Given the description of an element on the screen output the (x, y) to click on. 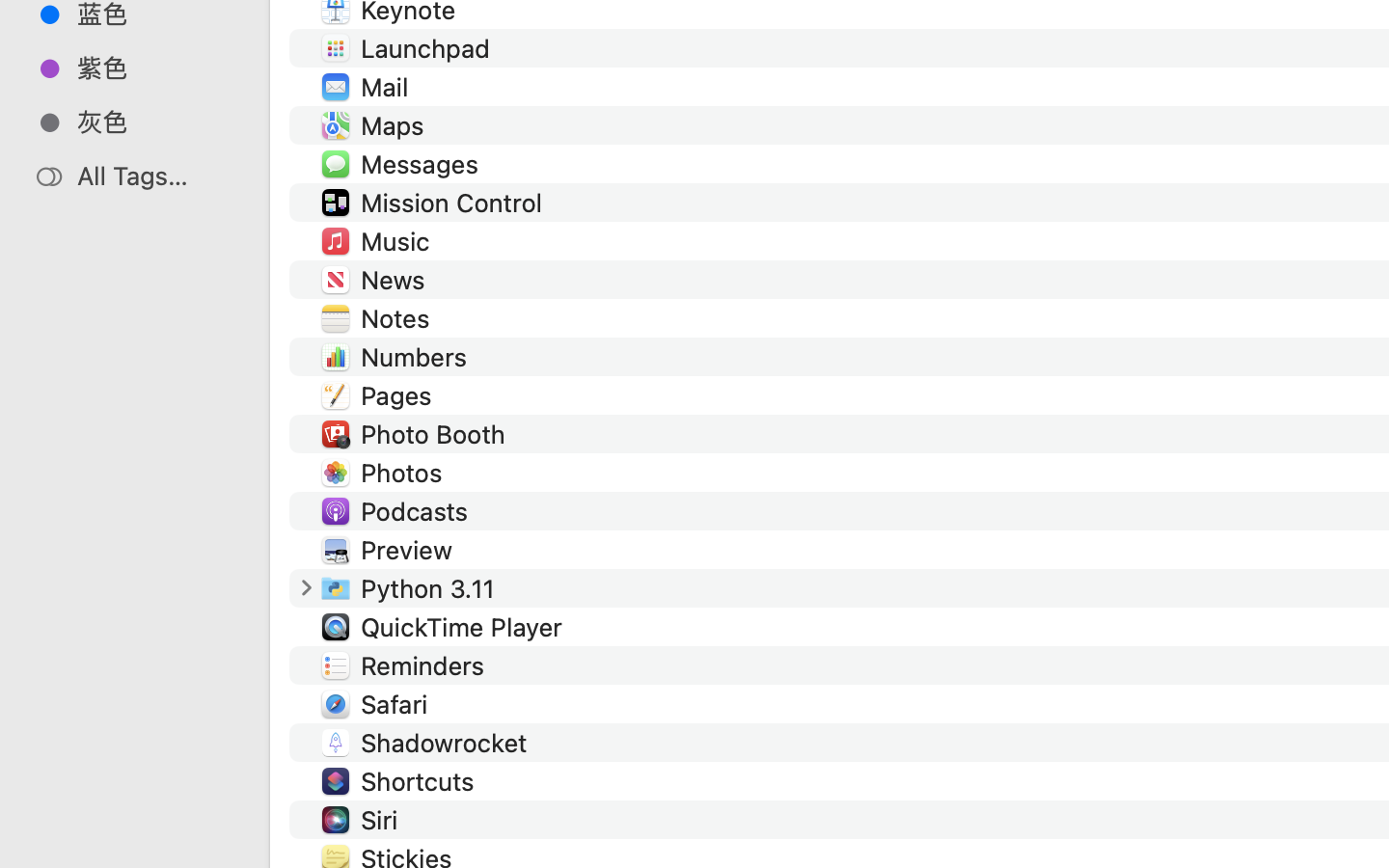
News Element type: AXTextField (396, 279)
Python 3.11 Element type: AXTextField (431, 587)
Mail Element type: AXTextField (388, 86)
Siri Element type: AXTextField (383, 819)
Numbers Element type: AXTextField (418, 356)
